Given the description of an element on the screen output the (x, y) to click on. 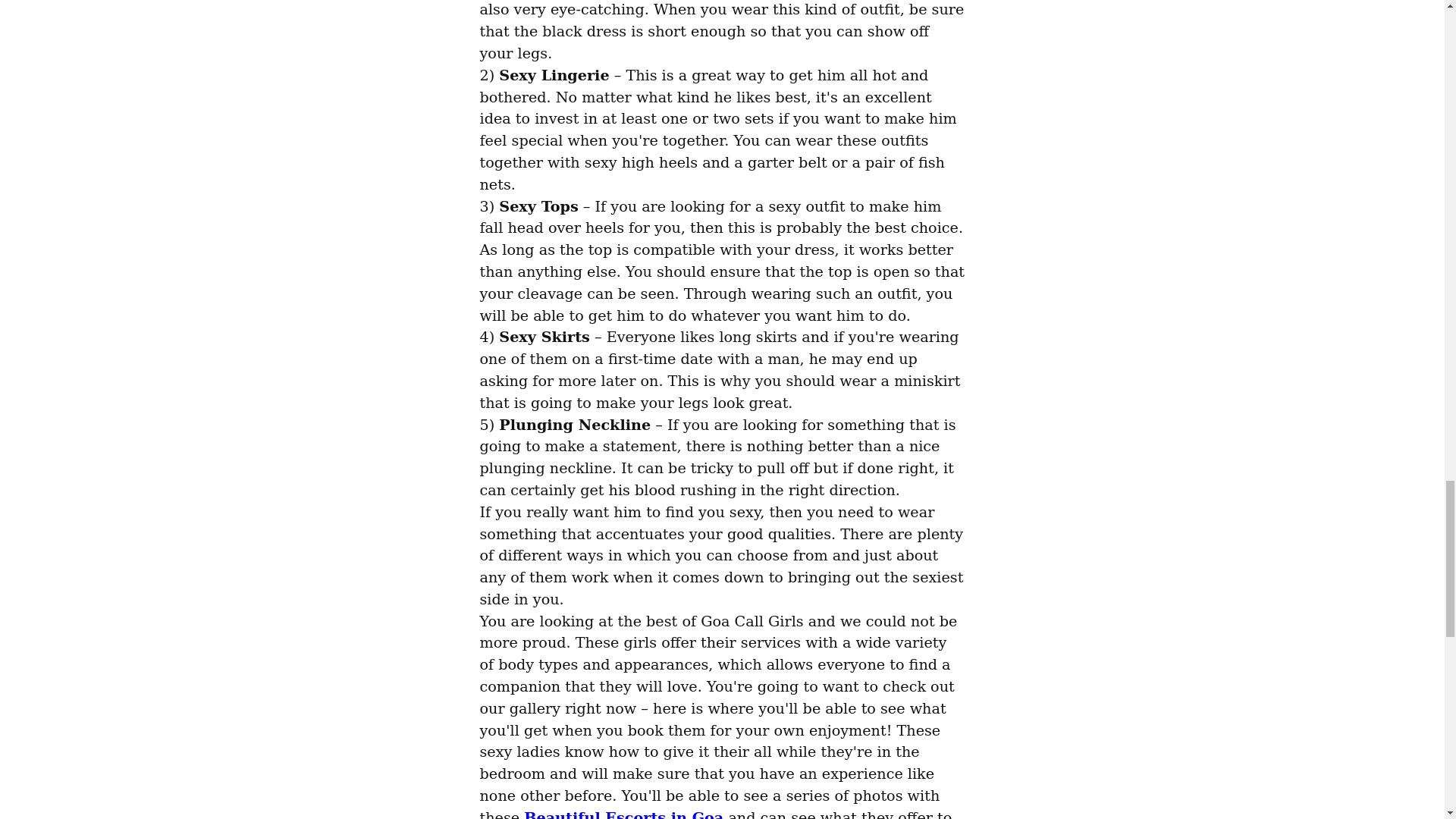
Beautiful Escorts in Goa (623, 814)
